Given the description of an element on the screen output the (x, y) to click on. 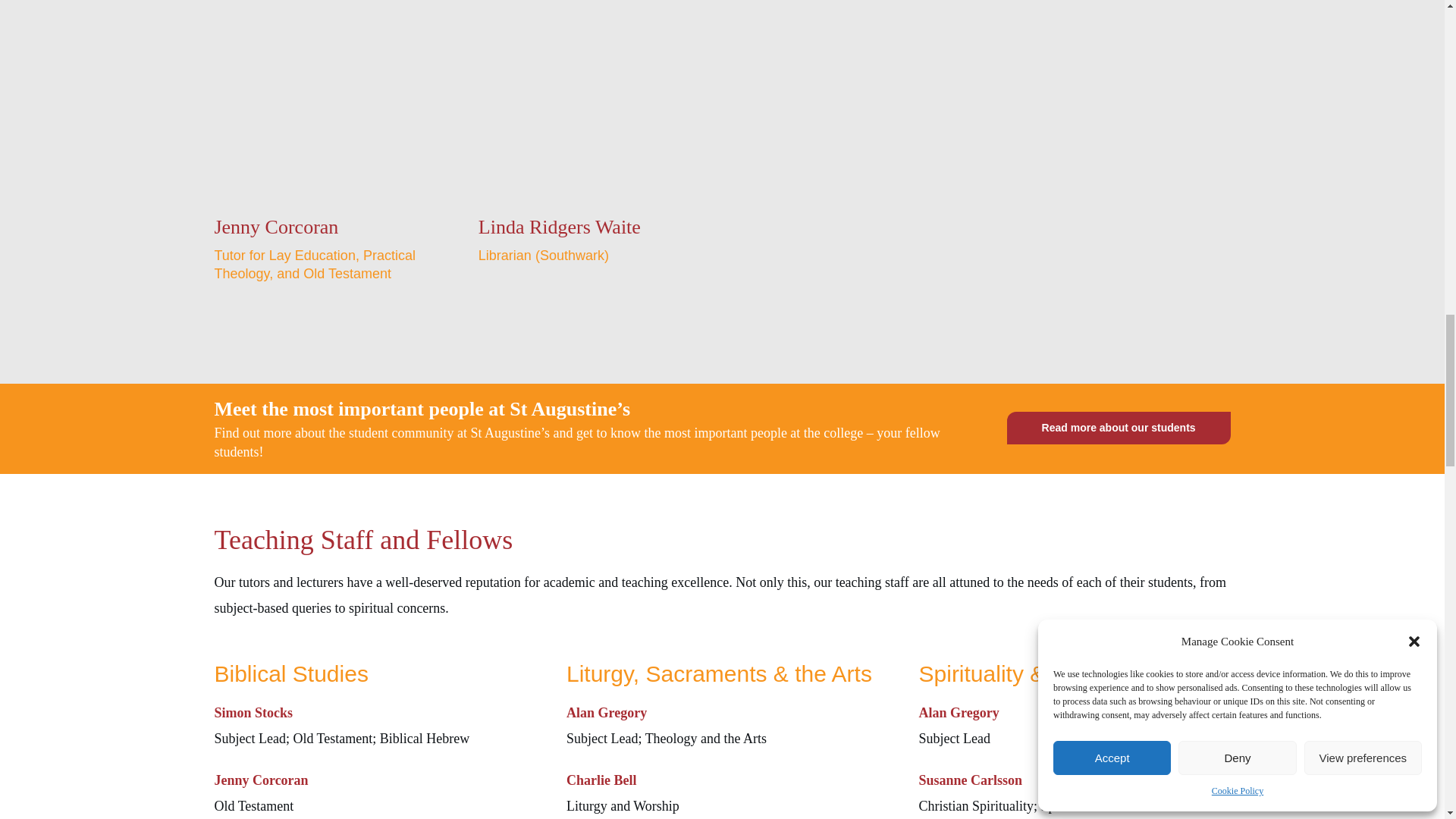
linda-ridge-waite-st-augustines-staff (590, 103)
jenny-corcoran-st-augustines-staff (326, 103)
